Given the description of an element on the screen output the (x, y) to click on. 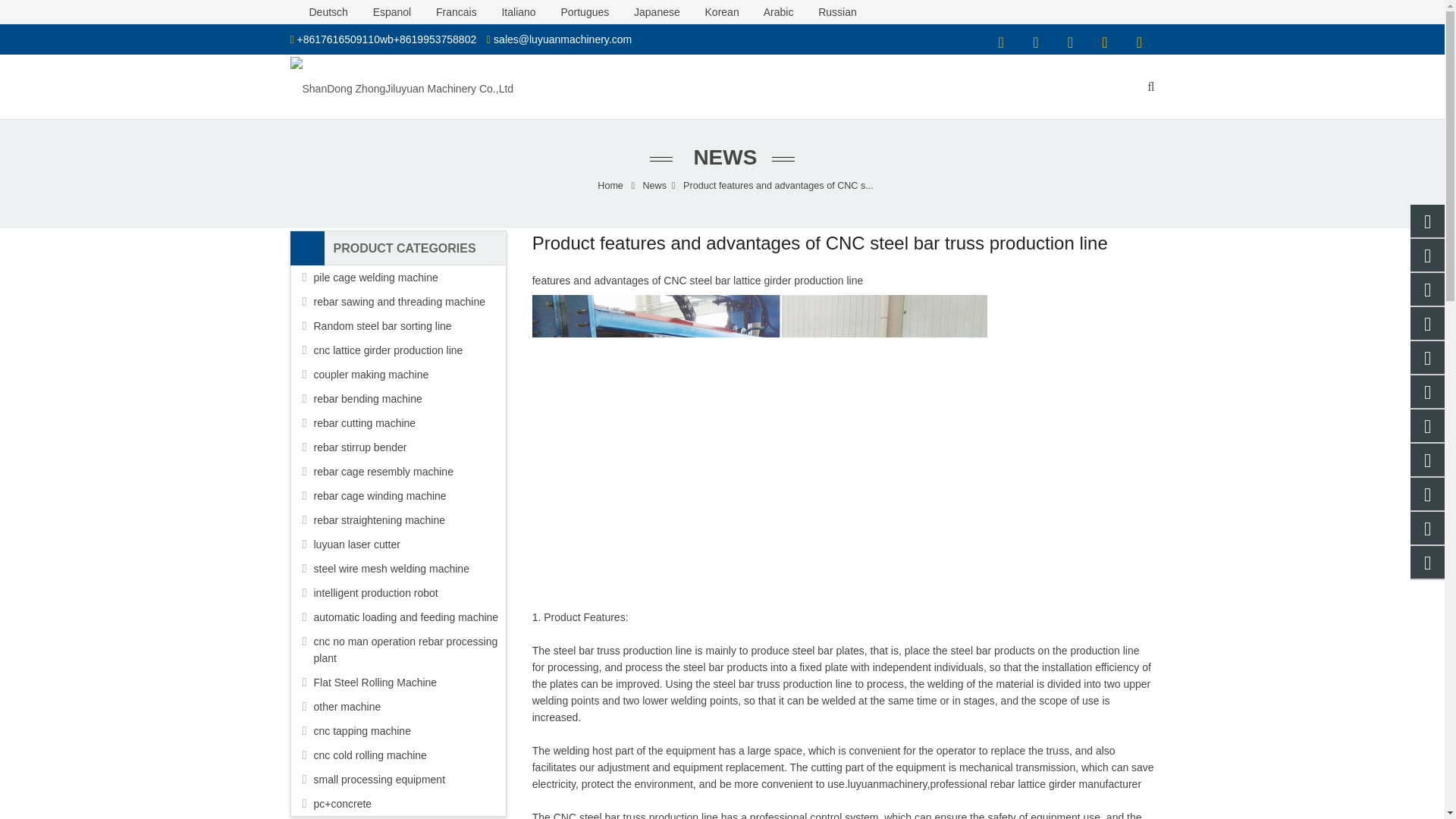
Italiano (509, 11)
Espanol (381, 11)
Arabic (769, 11)
Portugues (575, 11)
Deutsch (319, 11)
Japanese (646, 11)
Russian (826, 11)
Francais (446, 11)
Korean (712, 11)
